Given the description of an element on the screen output the (x, y) to click on. 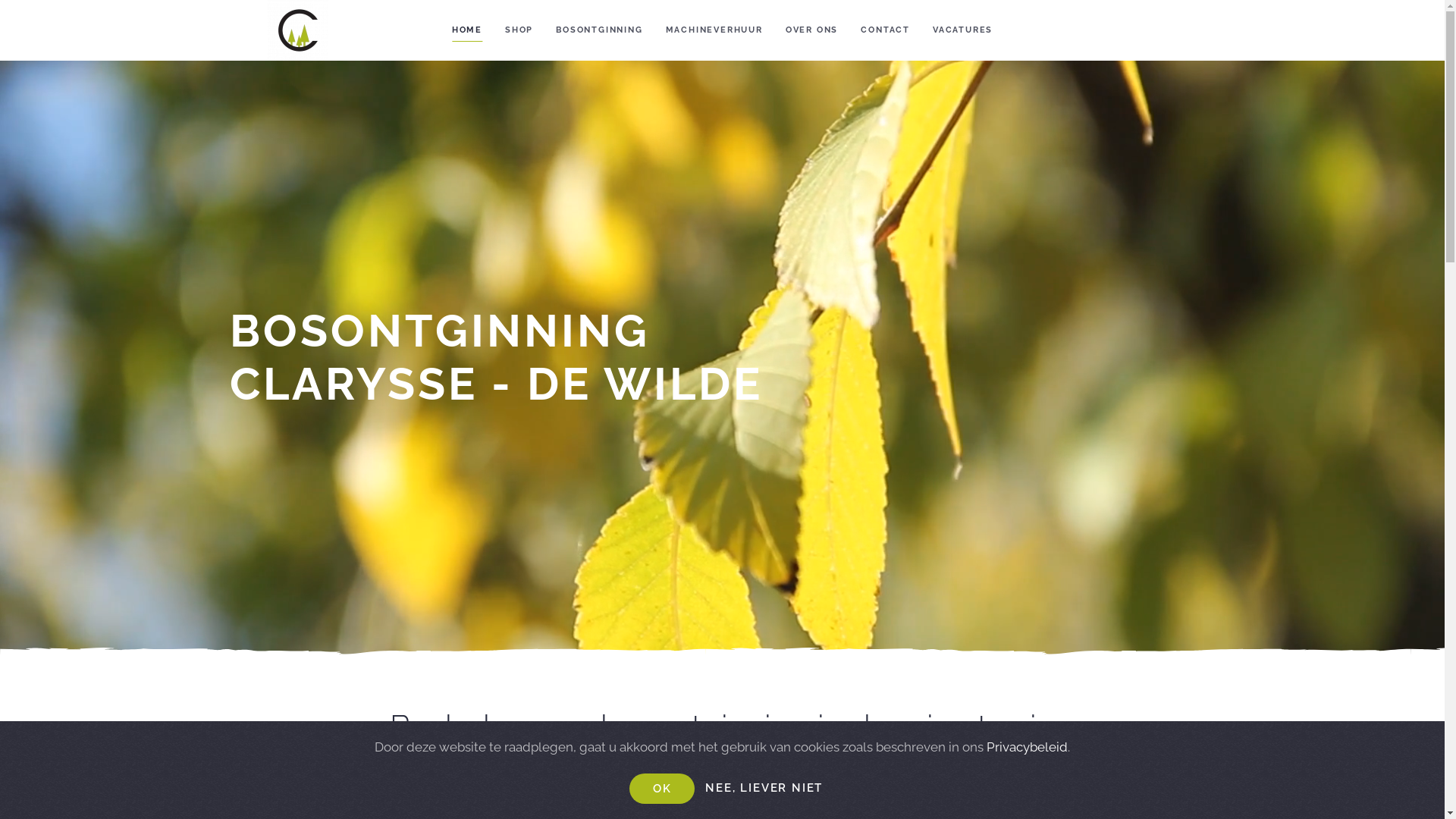
HOME Element type: text (466, 30)
SHOP Element type: text (519, 30)
CONTACT Element type: text (885, 30)
VACATURES Element type: text (962, 30)
MACHINEVERHUUR Element type: text (713, 30)
Privacybeleid Element type: text (1026, 746)
NEE, LIEVER NIET Element type: text (763, 788)
BOSONTGINNING Element type: text (598, 30)
OVER ONS Element type: text (811, 30)
OK Element type: text (662, 788)
